Given the description of an element on the screen output the (x, y) to click on. 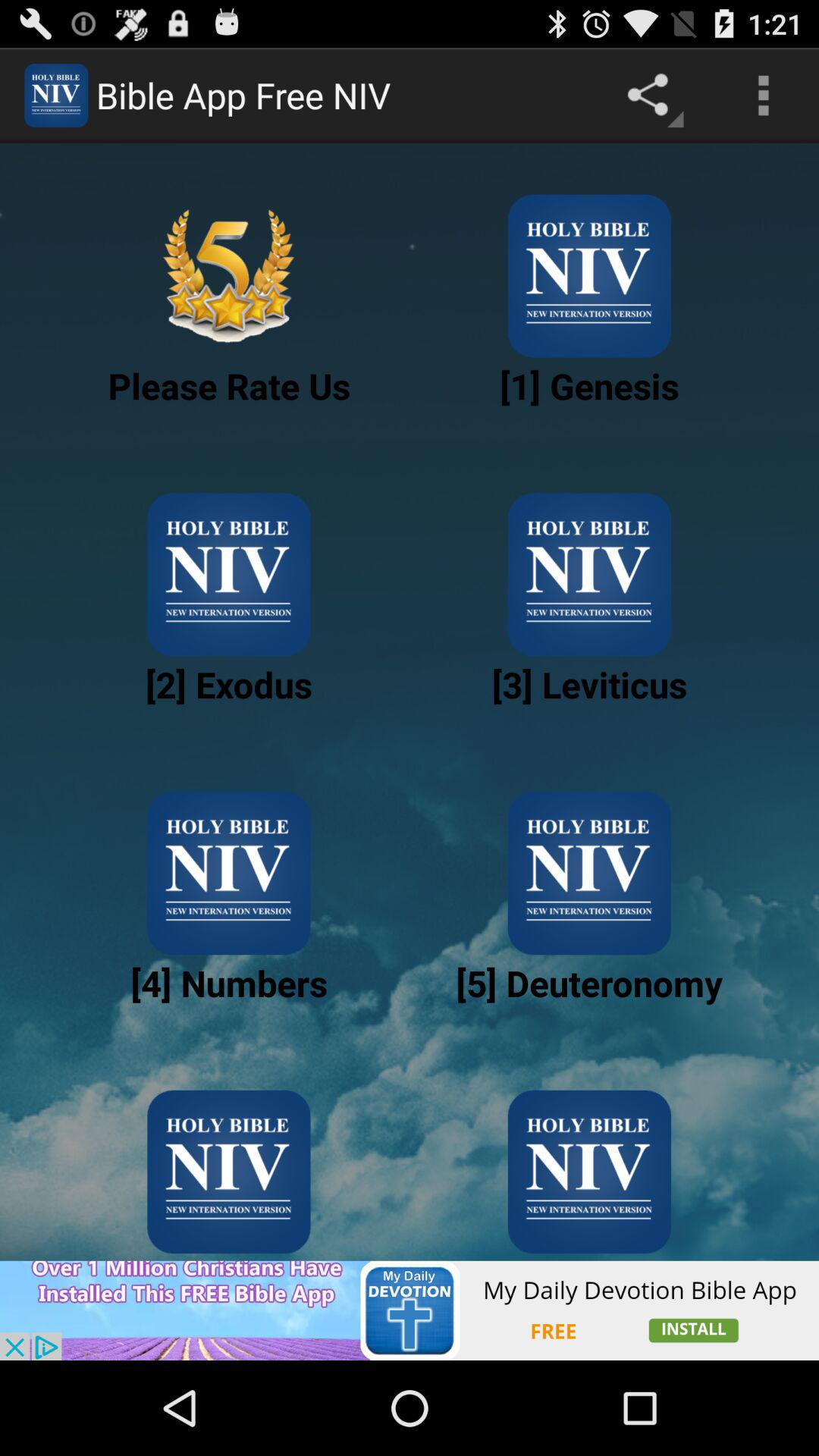
show outside advertisement (409, 1310)
